Given the description of an element on the screen output the (x, y) to click on. 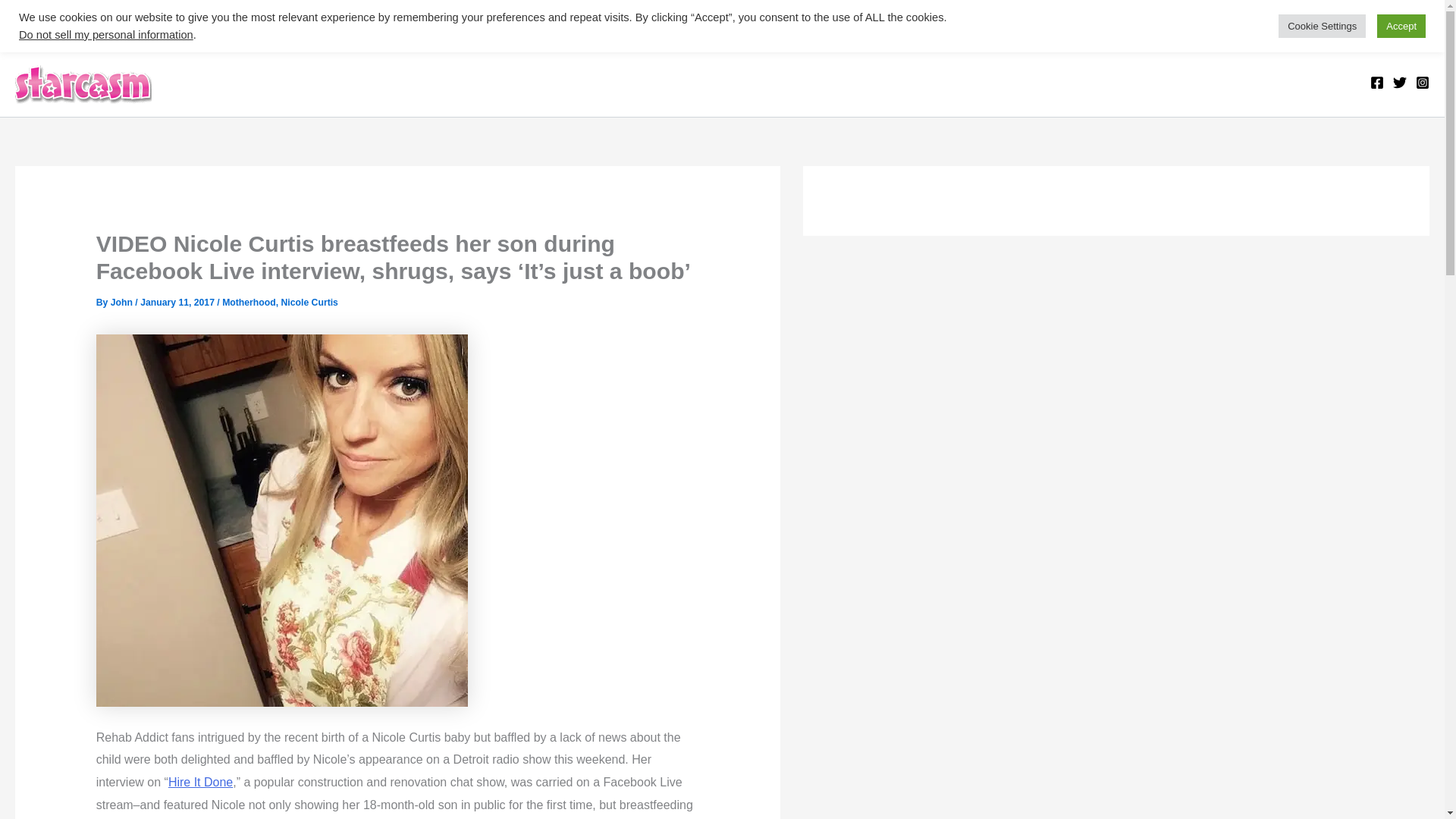
John (122, 302)
Home (188, 22)
Search Button (1415, 31)
Motherhood (249, 302)
View all posts by John (122, 302)
TOP CATEGORIES (87, 22)
Nicole Curtis (309, 302)
